Given the description of an element on the screen output the (x, y) to click on. 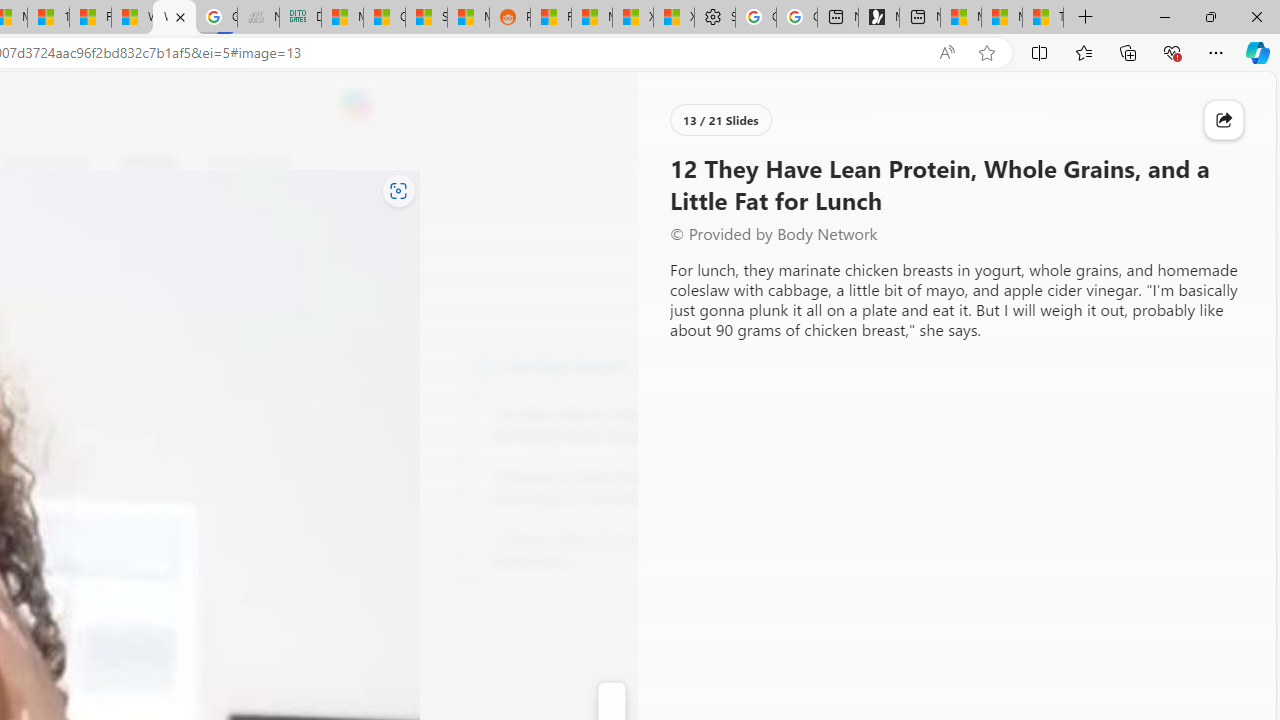
R******* | Trusted Community Engagement and Contributions (550, 17)
Entertainment (45, 162)
Share this story (1224, 119)
14 Common Myths Debunked By Scientific Facts (48, 17)
